Given the description of an element on the screen output the (x, y) to click on. 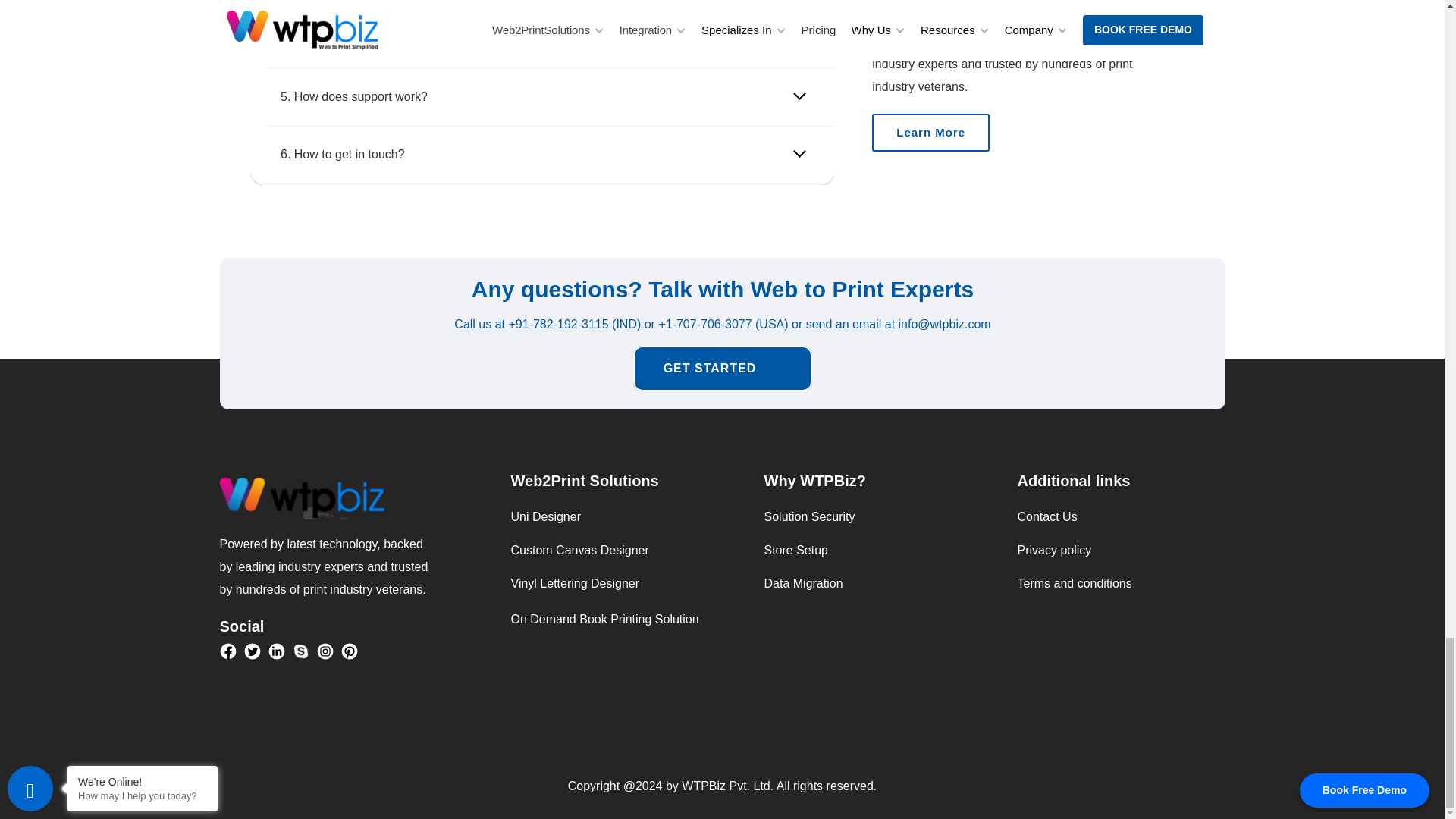
Store Setup (796, 549)
On Demand Book Printing Solution (604, 618)
Solution Security (810, 516)
Privacy policy (1054, 549)
Custom Canvas Designer (580, 549)
Learn More (931, 132)
Contact Us  (1049, 516)
Uni Designer (545, 516)
GET STARTED (721, 368)
Data Migration (803, 583)
Vinyl Lettering Designer (575, 583)
Terms and conditions (1074, 583)
